Given the description of an element on the screen output the (x, y) to click on. 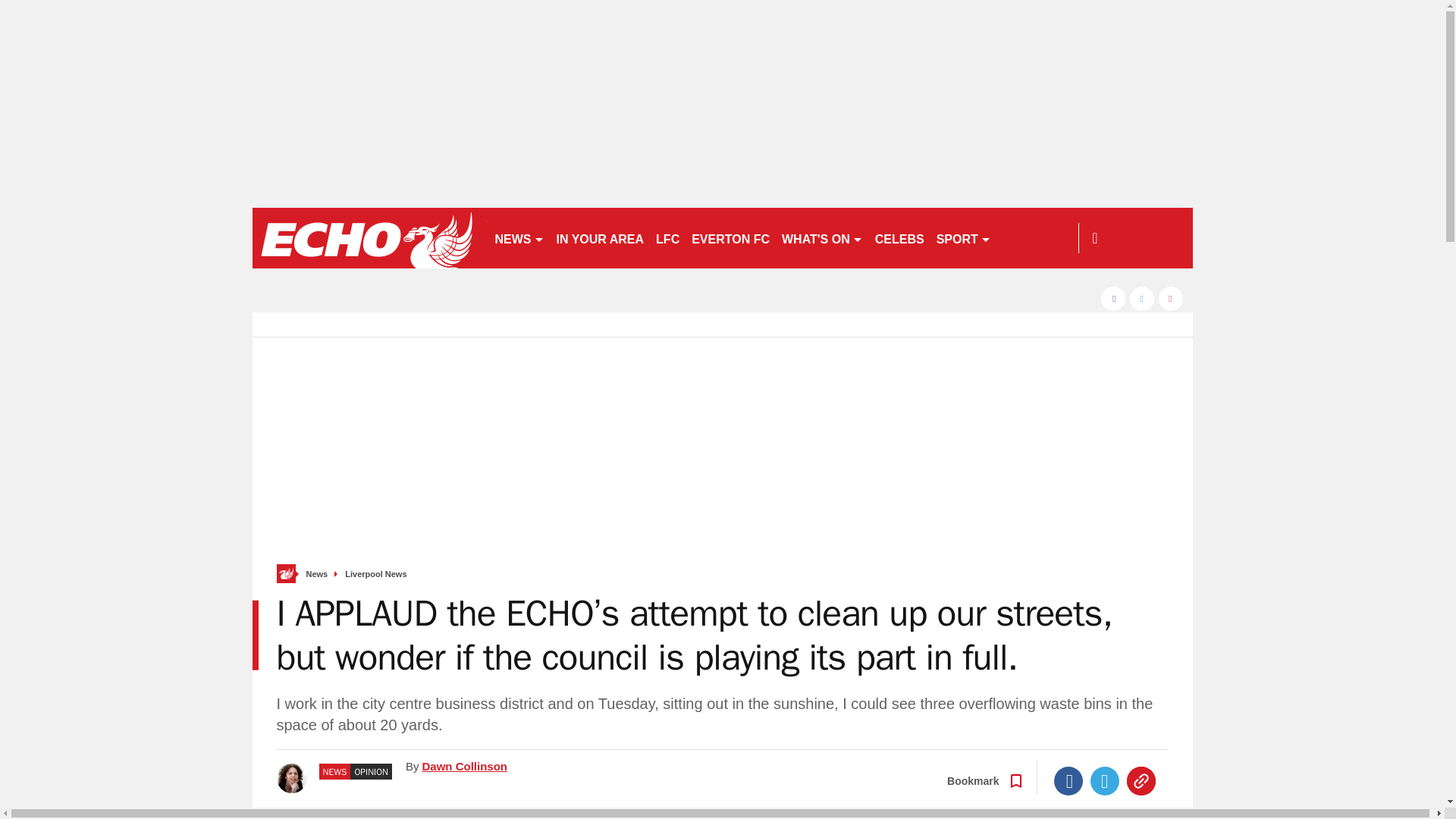
facebook (1112, 298)
WHAT'S ON (822, 238)
twitter (1141, 298)
instagram (1170, 298)
EVERTON FC (730, 238)
Twitter (1104, 780)
Facebook (1068, 780)
CELEBS (899, 238)
liverpoolecho (365, 238)
NEWS (518, 238)
